Given the description of an element on the screen output the (x, y) to click on. 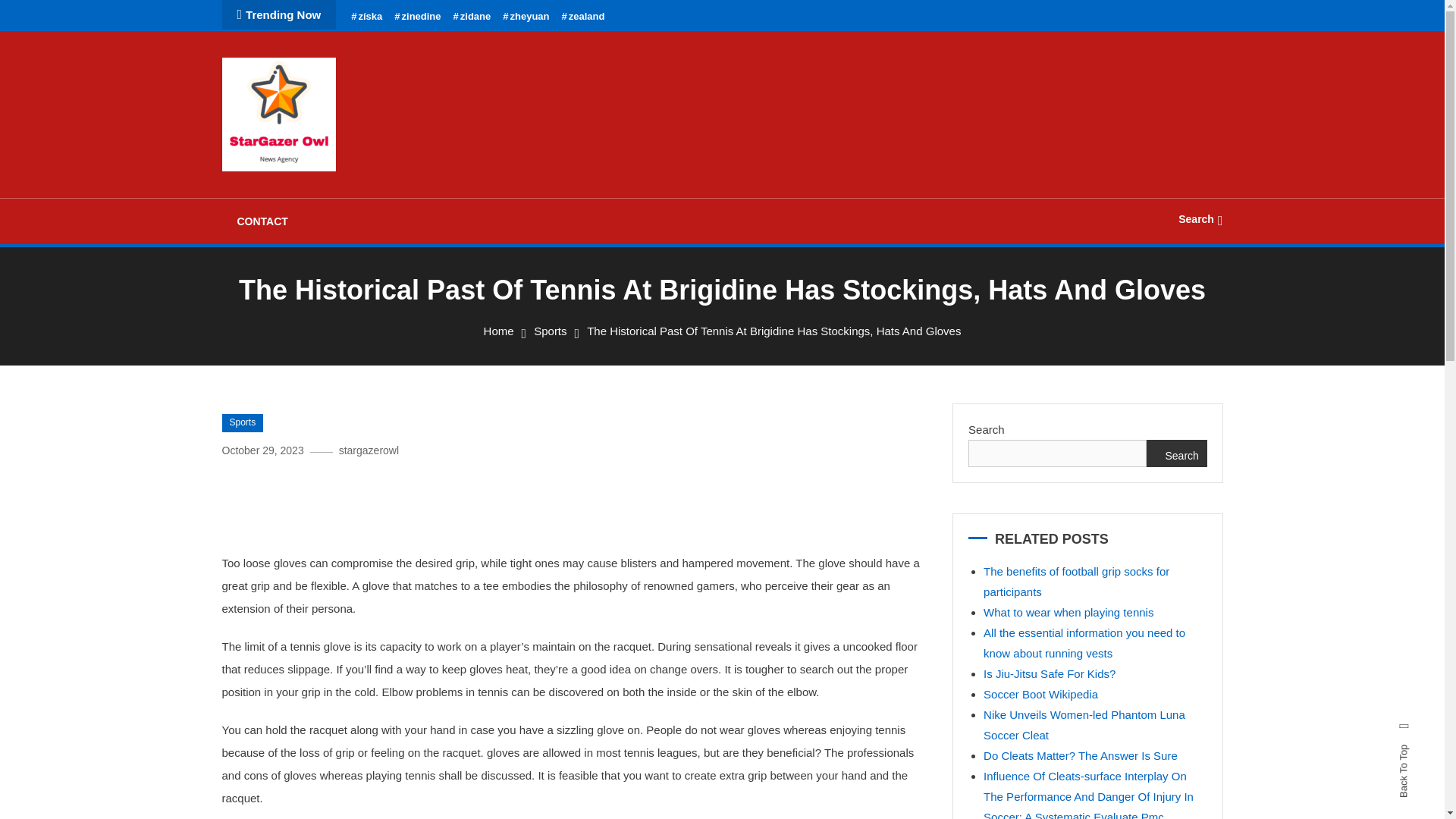
Search (1200, 218)
Stargazer owl (309, 191)
zheyuan (525, 16)
Home (498, 330)
Search (768, 434)
Sports (242, 423)
CONTACT (261, 221)
Sports (550, 330)
October 29, 2023 (261, 450)
stargazerowl (368, 450)
